Given the description of an element on the screen output the (x, y) to click on. 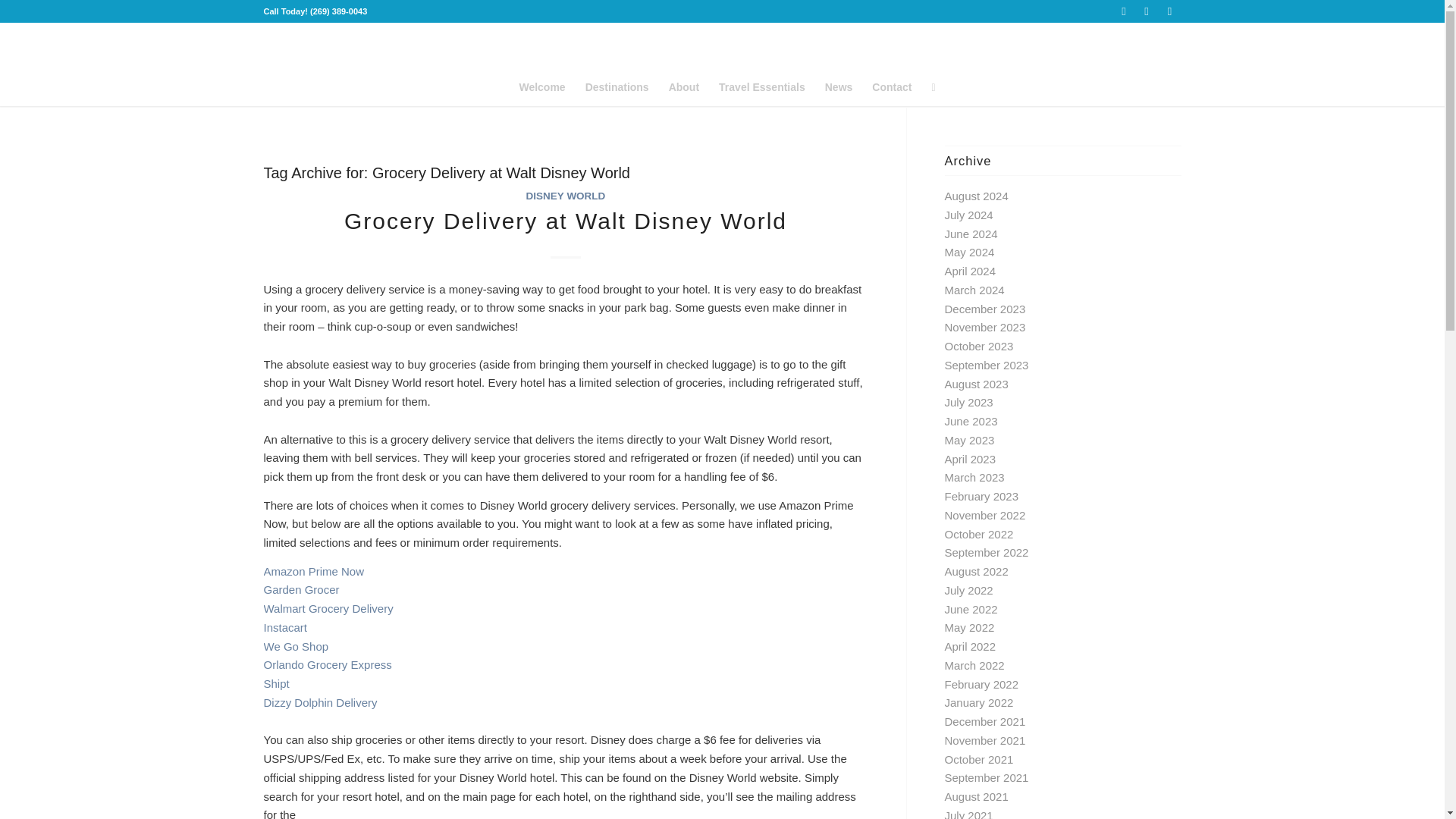
Amazon Prime Now (314, 570)
Destinations (617, 86)
About (684, 86)
Garden Grocer (301, 589)
Contact (891, 86)
Travel Essentials (762, 86)
Instagram (1169, 11)
Grocery Delivery at Walt Disney World (565, 220)
DISNEY WORLD (565, 195)
Permanent Link: Grocery Delivery at Walt Disney World (565, 220)
